Given the description of an element on the screen output the (x, y) to click on. 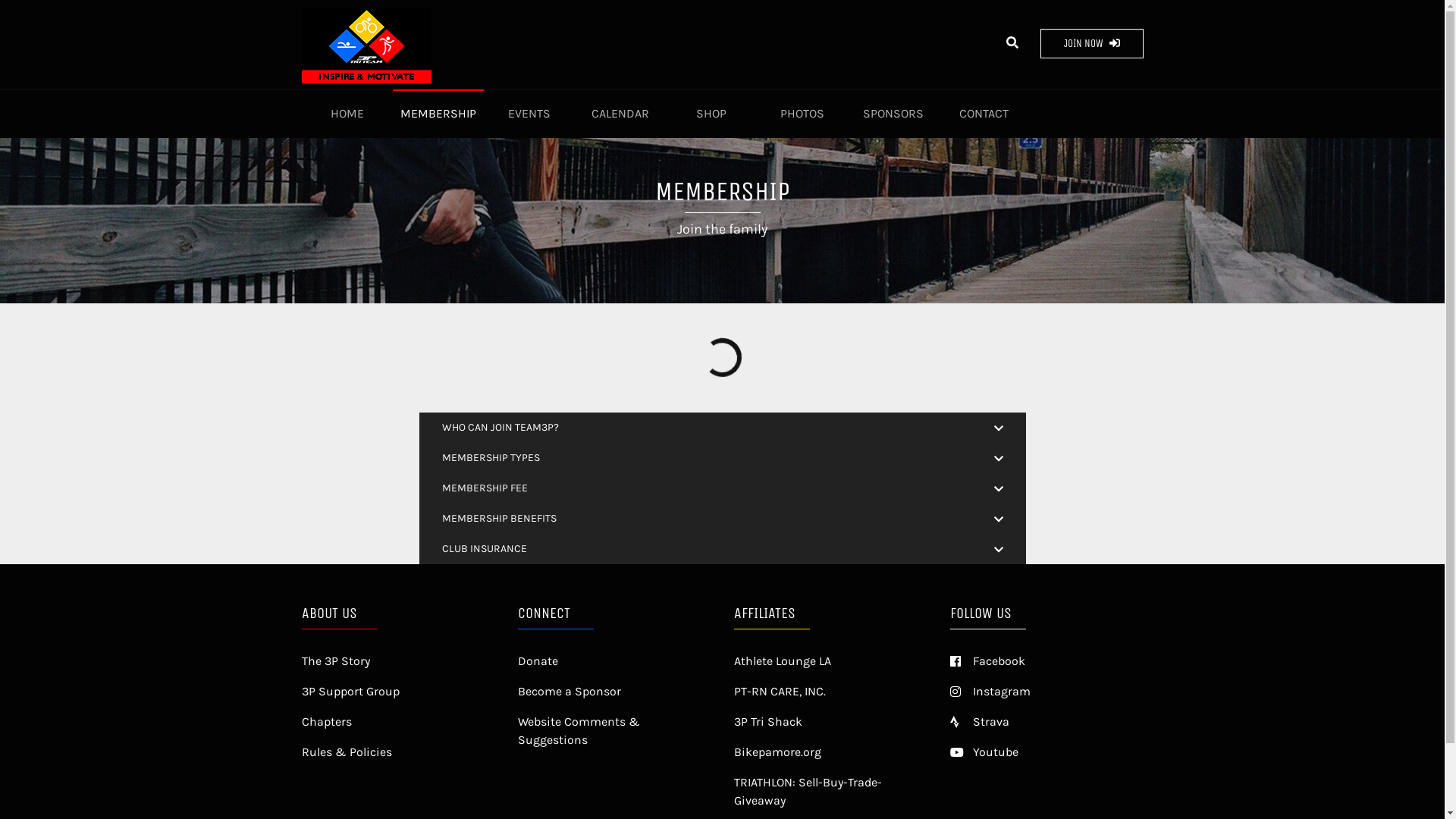
MEMBERSHIP BENEFITS Element type: text (721, 518)
HOME Element type: text (346, 113)
CALENDAR Element type: text (619, 113)
Bikepamore.org Element type: text (830, 752)
Donate Element type: text (613, 661)
EVENTS Element type: text (528, 113)
Website Comments & Suggestions Element type: text (613, 730)
Chapters Element type: text (398, 721)
PT-RN CARE, INC. Element type: text (830, 691)
CONTACT Element type: text (983, 113)
Strava Element type: text (1045, 721)
SPONSORS Element type: text (892, 113)
Rules & Policies Element type: text (398, 752)
MEMBERSHIP Element type: text (437, 113)
3P Tri Shack Element type: text (830, 721)
WHO CAN JOIN TEAM3P? Element type: text (721, 427)
3P TRI TEAM Element type: text (395, 45)
MEMBERSHIP FEE Element type: text (721, 488)
Become a Sponsor Element type: text (613, 691)
TRIATHLON: Sell-Buy-Trade-Giveaway Element type: text (830, 791)
SHOP Element type: text (710, 113)
The 3P Story Element type: text (398, 661)
PHOTOS Element type: text (801, 113)
MEMBERSHIP TYPES Element type: text (721, 457)
3P Support Group Element type: text (398, 691)
Youtube Element type: text (1045, 752)
JOIN NOW Element type: text (1091, 43)
Instagram Element type: text (1045, 691)
CLUB INSURANCE Element type: text (721, 548)
Athlete Lounge LA Element type: text (830, 661)
Facebook Element type: text (1045, 661)
